Given the description of an element on the screen output the (x, y) to click on. 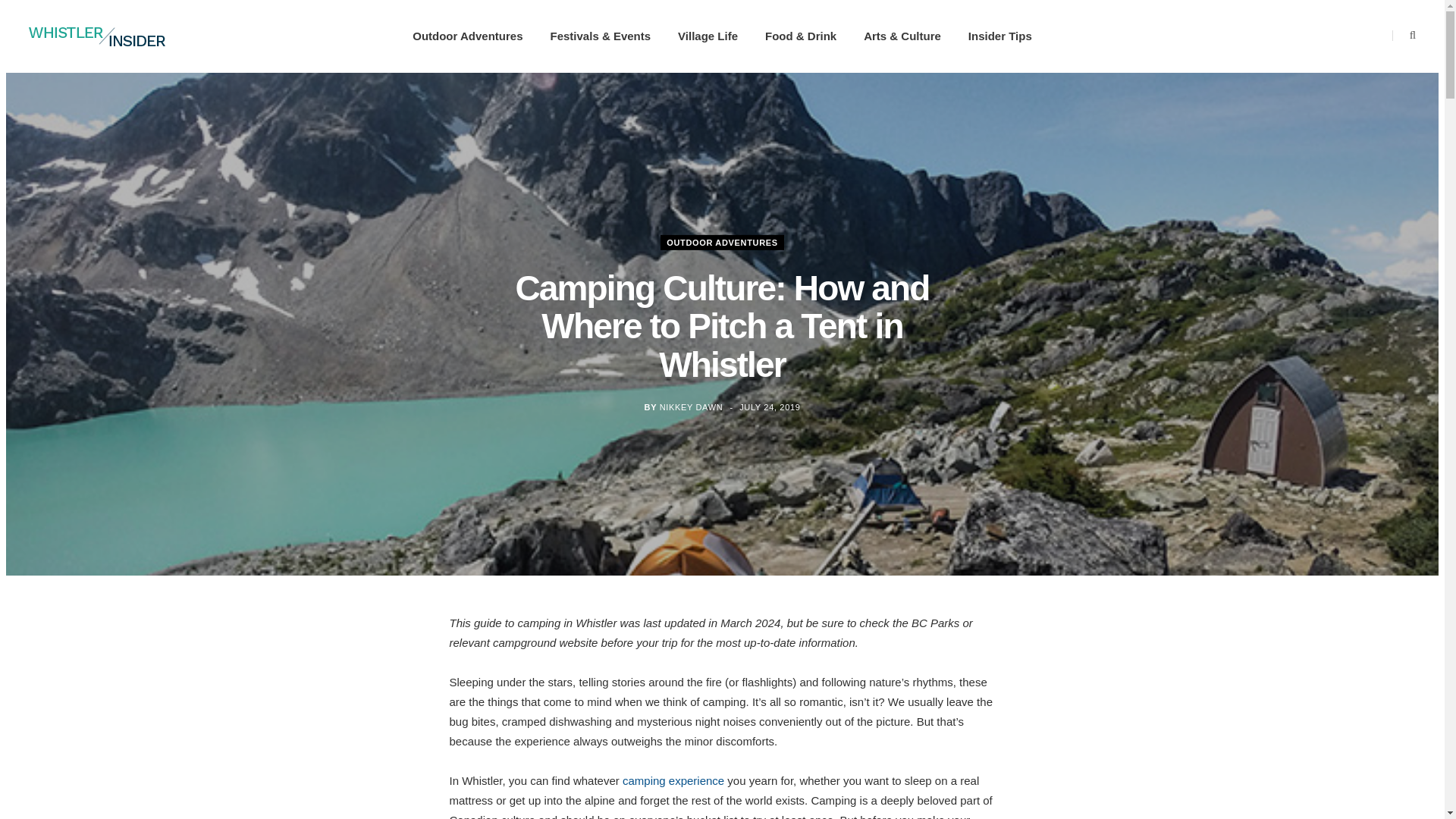
OUTDOOR ADVENTURES (722, 241)
NIKKEY DAWN (691, 406)
Outdoor Adventures (466, 36)
Insider Tips (1000, 36)
Posts by Nikkey Dawn (691, 406)
JULY 24, 2019 (769, 406)
The Whistler Insider (97, 36)
Village Life (707, 36)
camping experience (673, 780)
